Given the description of an element on the screen output the (x, y) to click on. 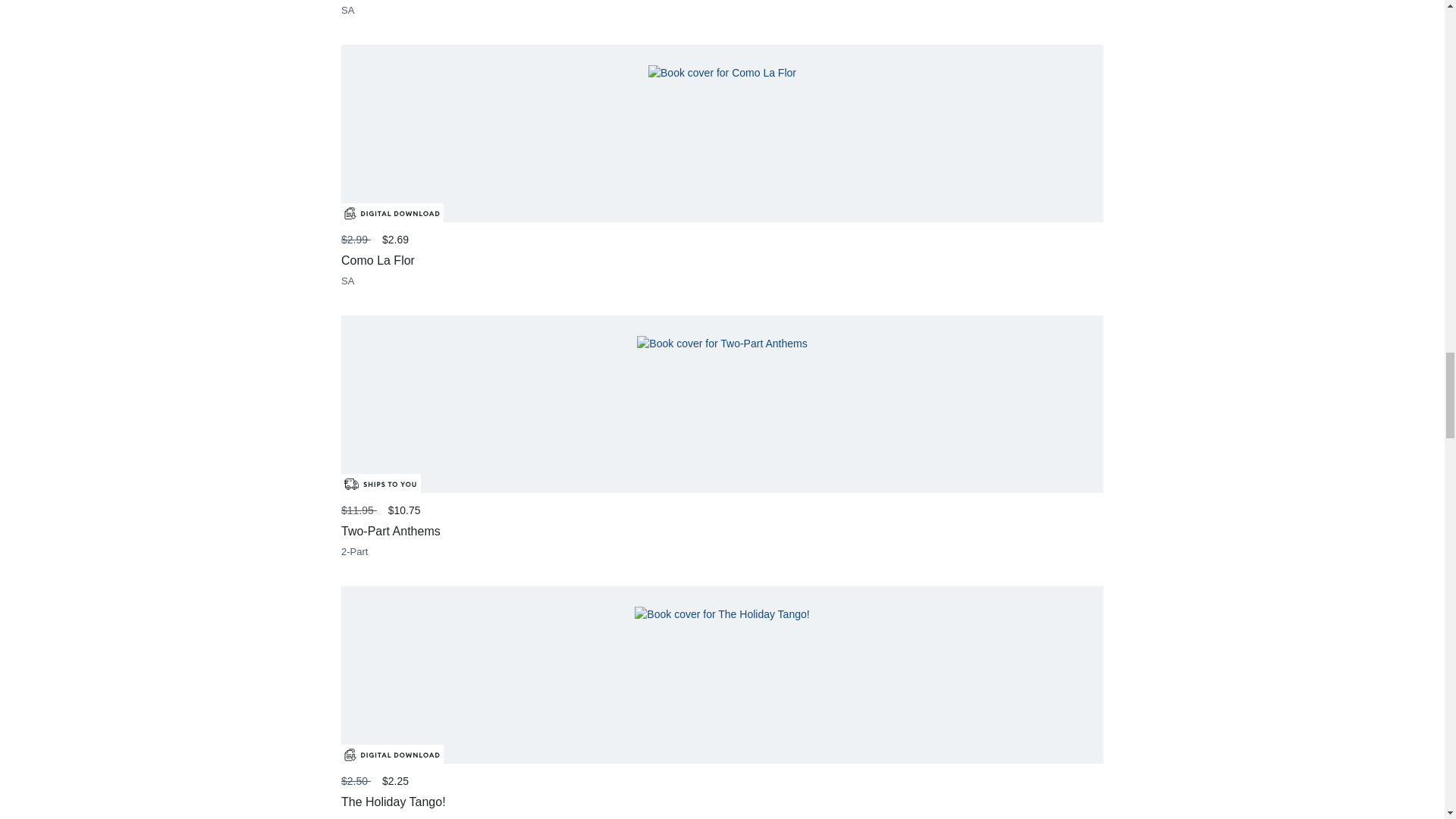
Book cover for Two-Part Anthems (721, 343)
Book cover for The Holiday Tango! (721, 614)
Book cover for Como La Flor (721, 73)
